Given the description of an element on the screen output the (x, y) to click on. 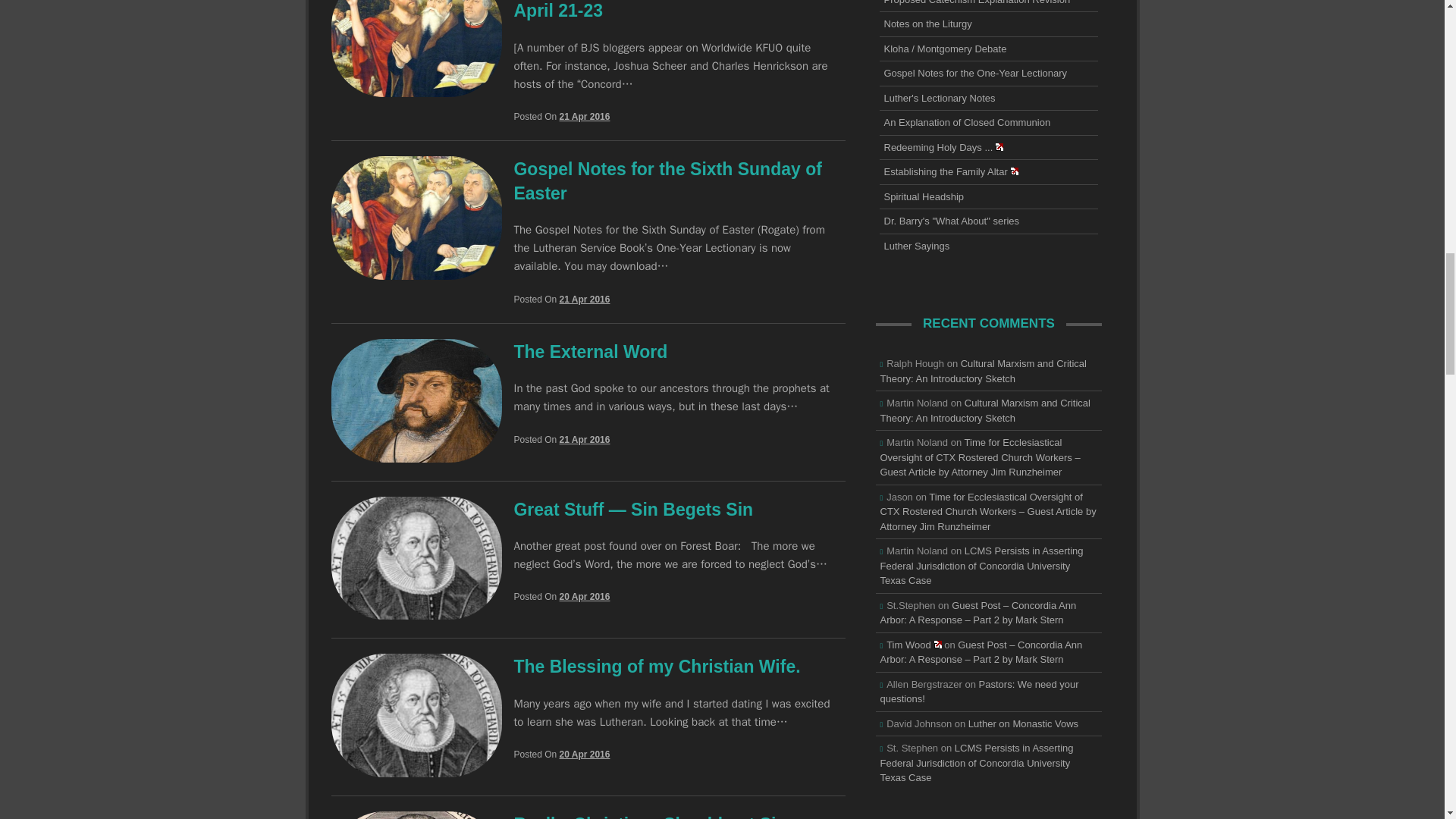
Gospel Notes for the Sixth Sunday of Easter (416, 275)
The Blessing of my Christian Wife. (416, 772)
The External Word (416, 458)
Worldwide KFUO Sharathon 2016, April 21-23 (416, 92)
